Given the description of an element on the screen output the (x, y) to click on. 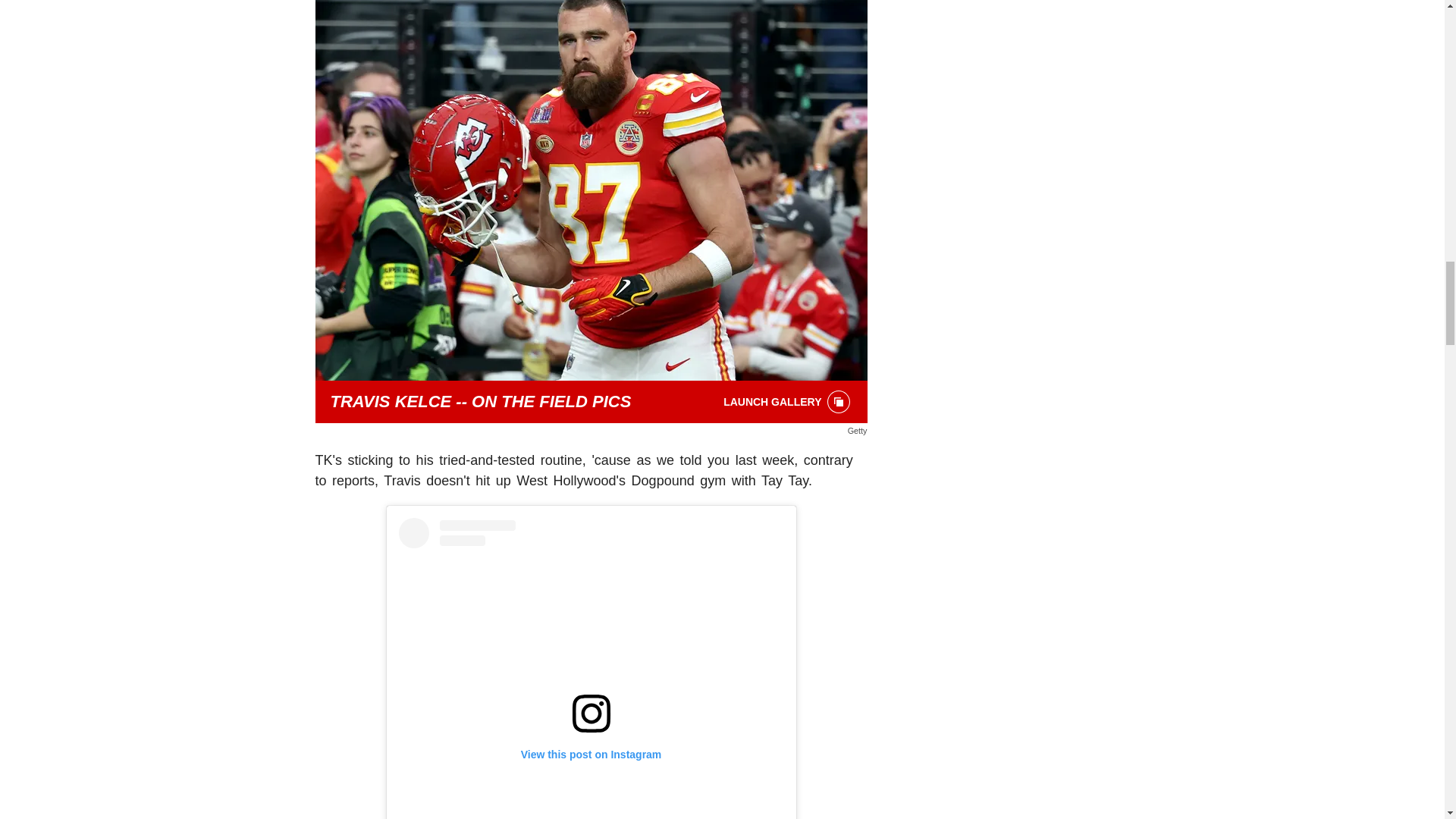
GALLERY (838, 401)
